Given the description of an element on the screen output the (x, y) to click on. 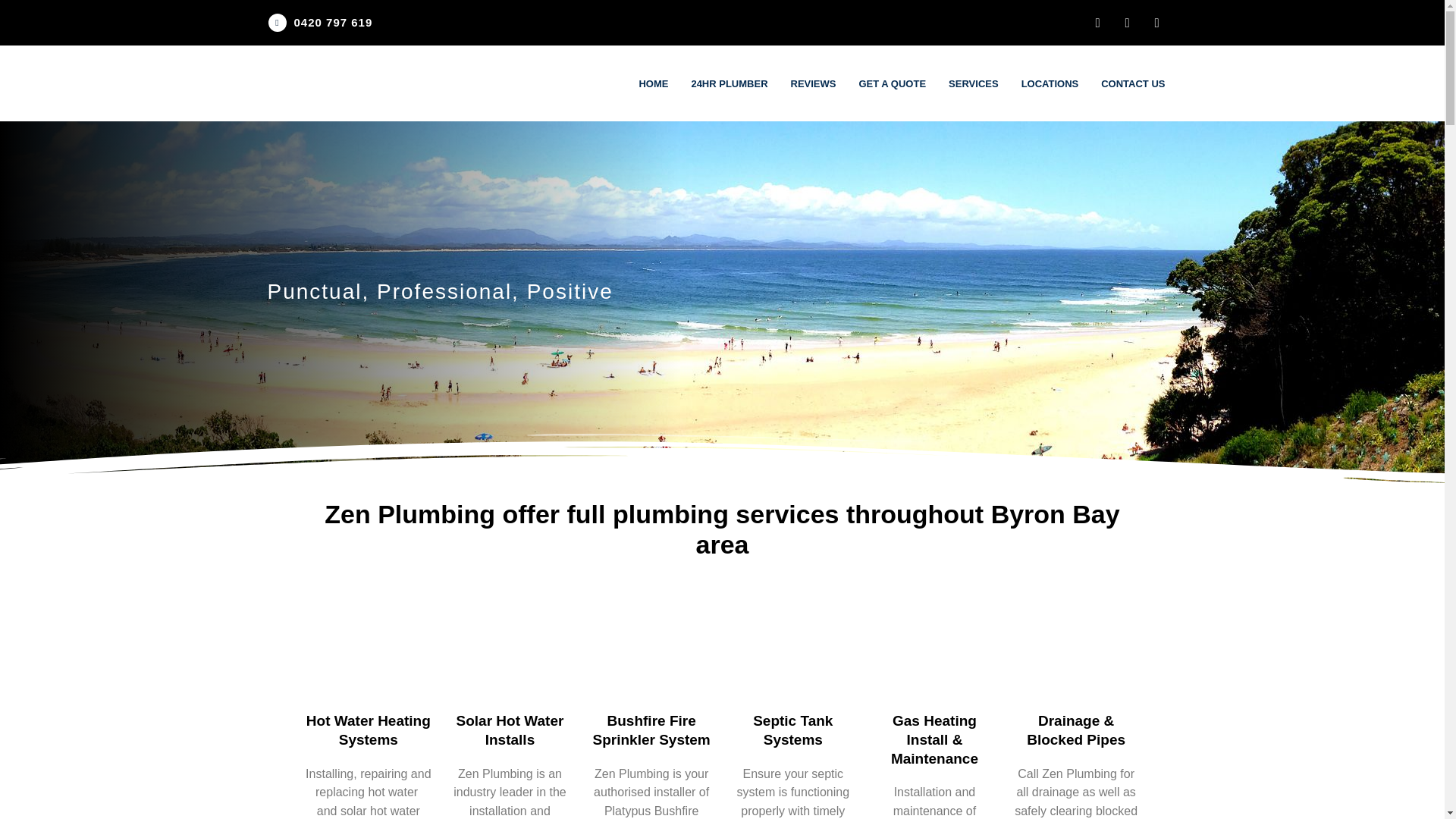
0420 797 619 (333, 21)
CONTACT US (1132, 83)
LOCATIONS (1050, 83)
HOME (653, 83)
SERVICES (973, 83)
Facebook (1096, 22)
24HR PLUMBER (728, 83)
GET A QUOTE (892, 83)
Youtube (1155, 22)
REVIEWS (812, 83)
